Given the description of an element on the screen output the (x, y) to click on. 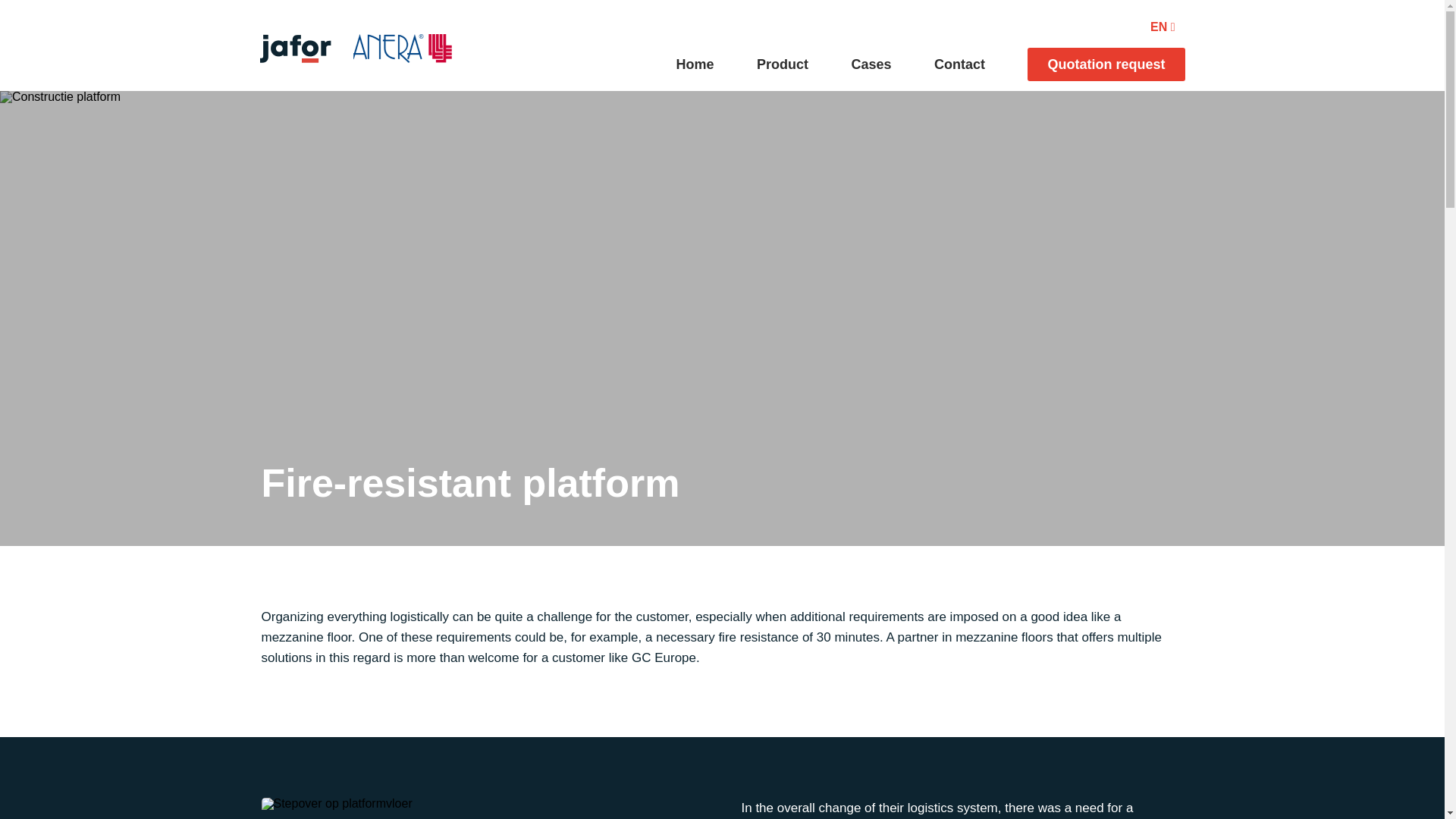
Cases (871, 64)
Contact (959, 64)
Quotation request (1106, 64)
Home (694, 64)
Product (782, 64)
Choose language (1183, 27)
